Given the description of an element on the screen output the (x, y) to click on. 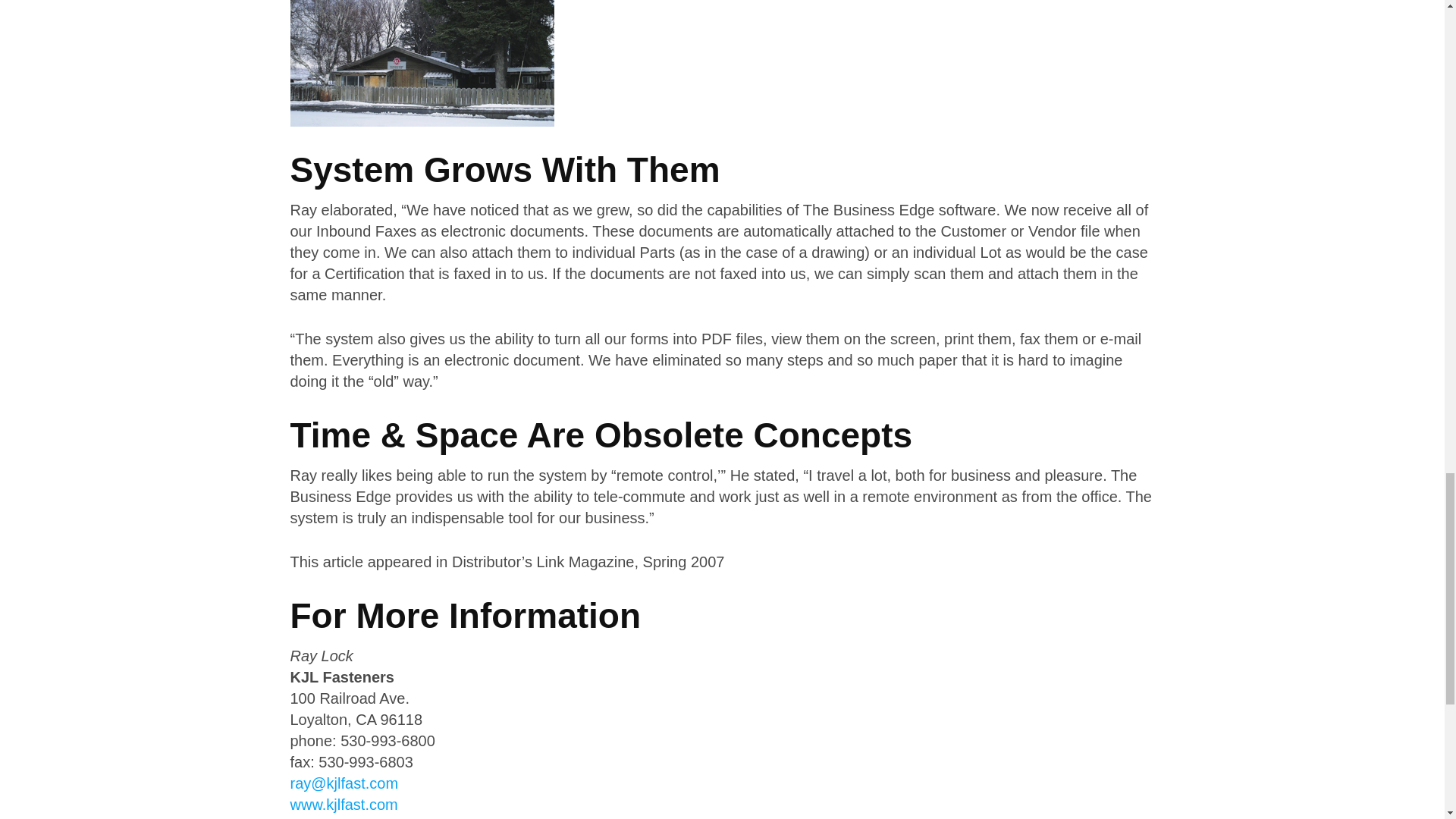
www.kjlfast.com (343, 804)
